Given the description of an element on the screen output the (x, y) to click on. 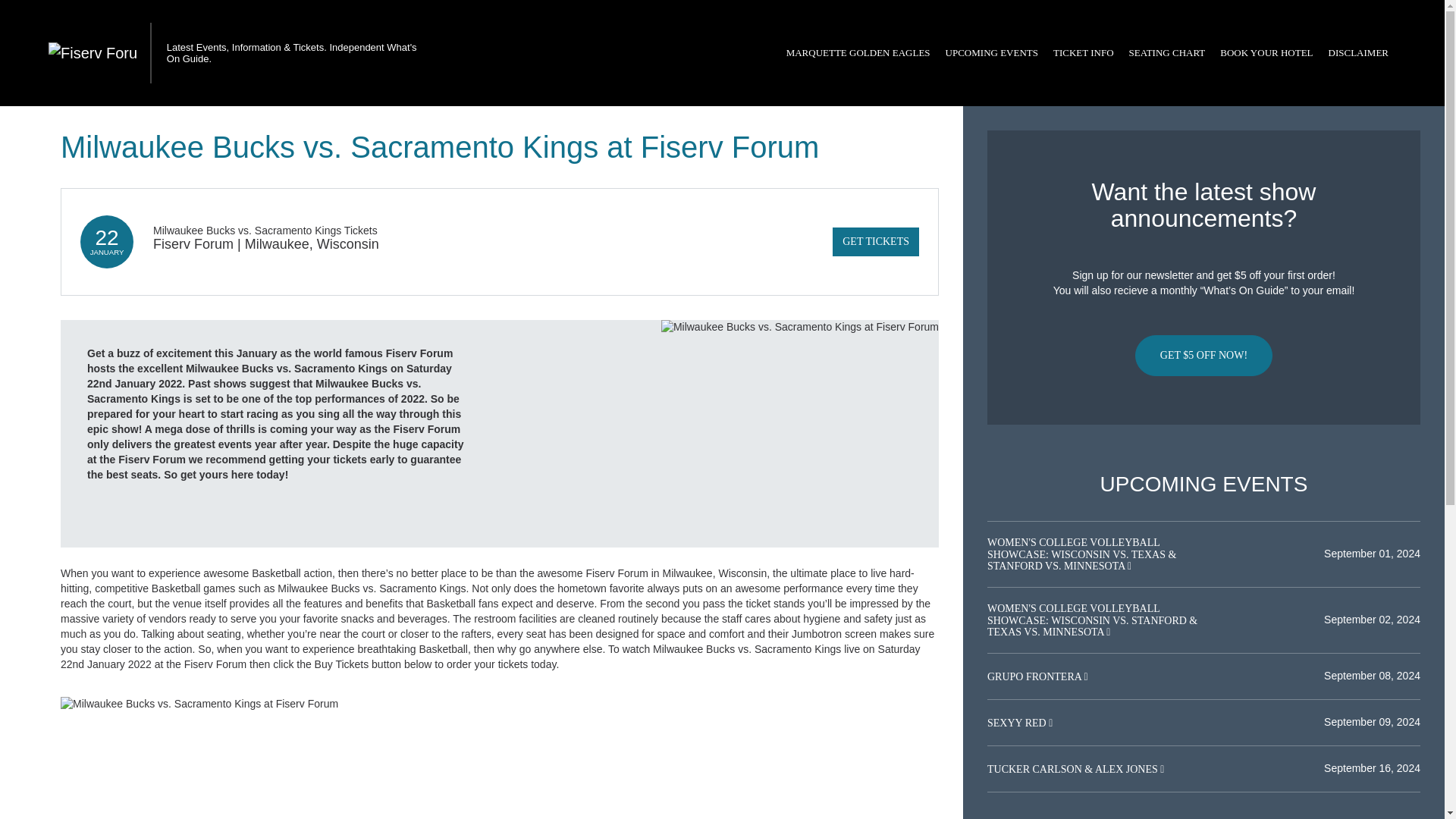
DISCLAIMER (1358, 52)
SEATING CHART (1166, 52)
BOOK YOUR HOTEL (1266, 52)
MARQUETTE GOLDEN EAGLES (857, 52)
GET TICKETS (875, 241)
Milwaukee Bucks vs. Sacramento Kings Tickets (264, 230)
VIEW ALL EVENTS (1203, 817)
UPCOMING EVENTS (991, 52)
Milwaukee Bucks vs. Sacramento Kings at Fiserv Forum tickets (500, 703)
TICKET INFO (1083, 52)
